Given the description of an element on the screen output the (x, y) to click on. 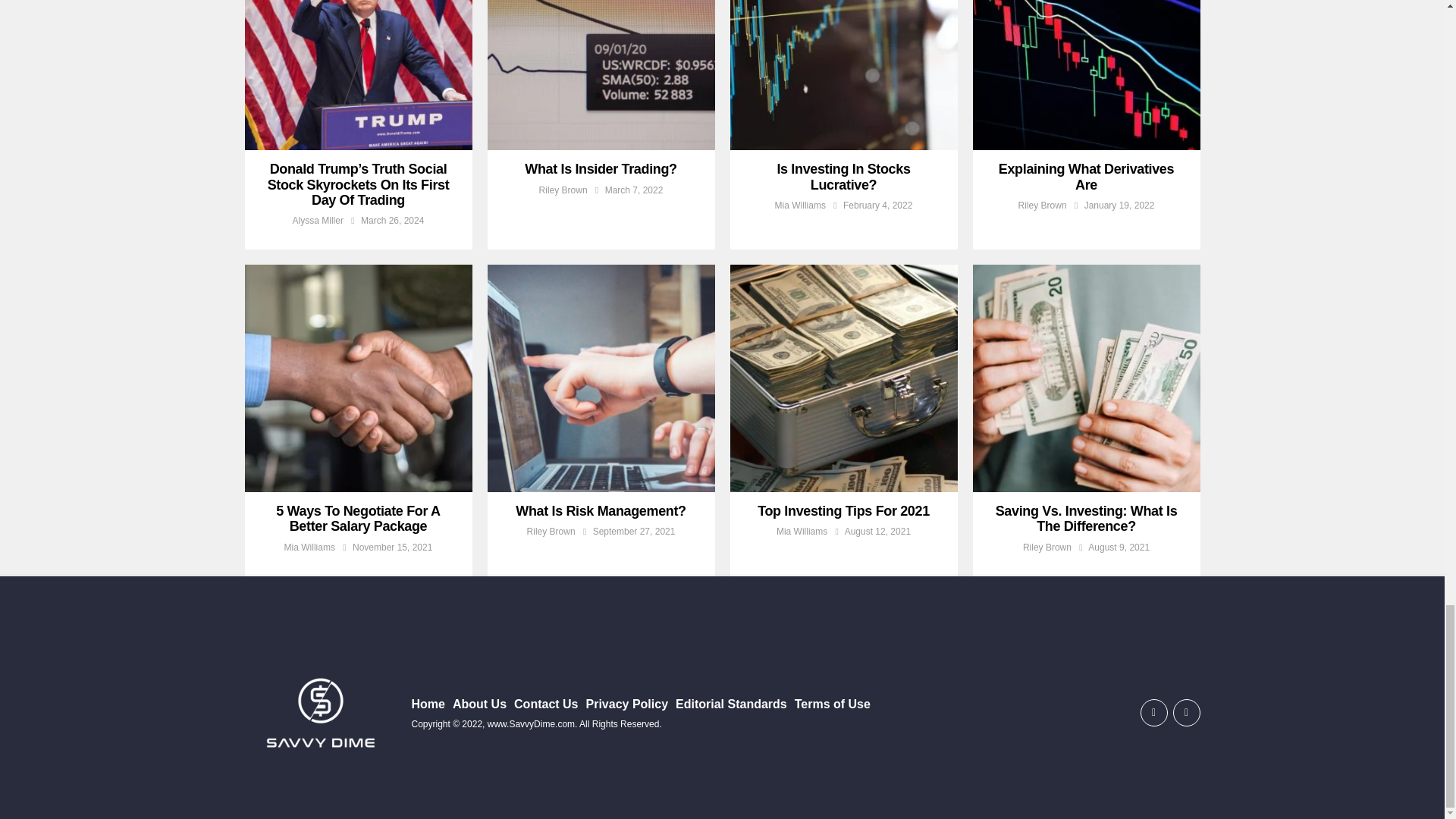
About Us (479, 703)
Contact Us (545, 703)
Editorial Standards (731, 703)
Home (427, 703)
Privacy Policy (627, 703)
